Given the description of an element on the screen output the (x, y) to click on. 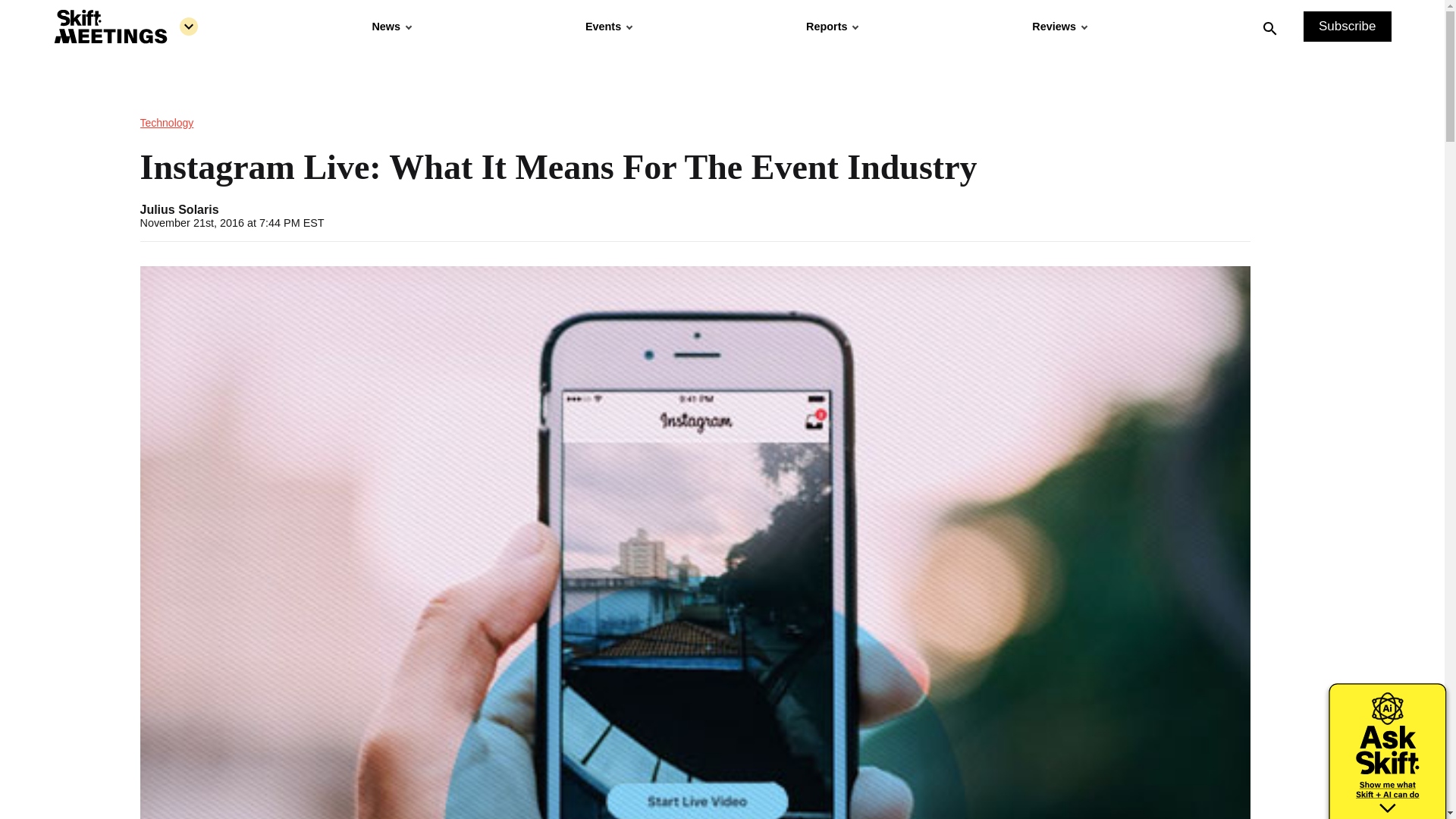
Reviews (1059, 26)
Subscribe (1347, 26)
Reports (831, 26)
